Given the description of an element on the screen output the (x, y) to click on. 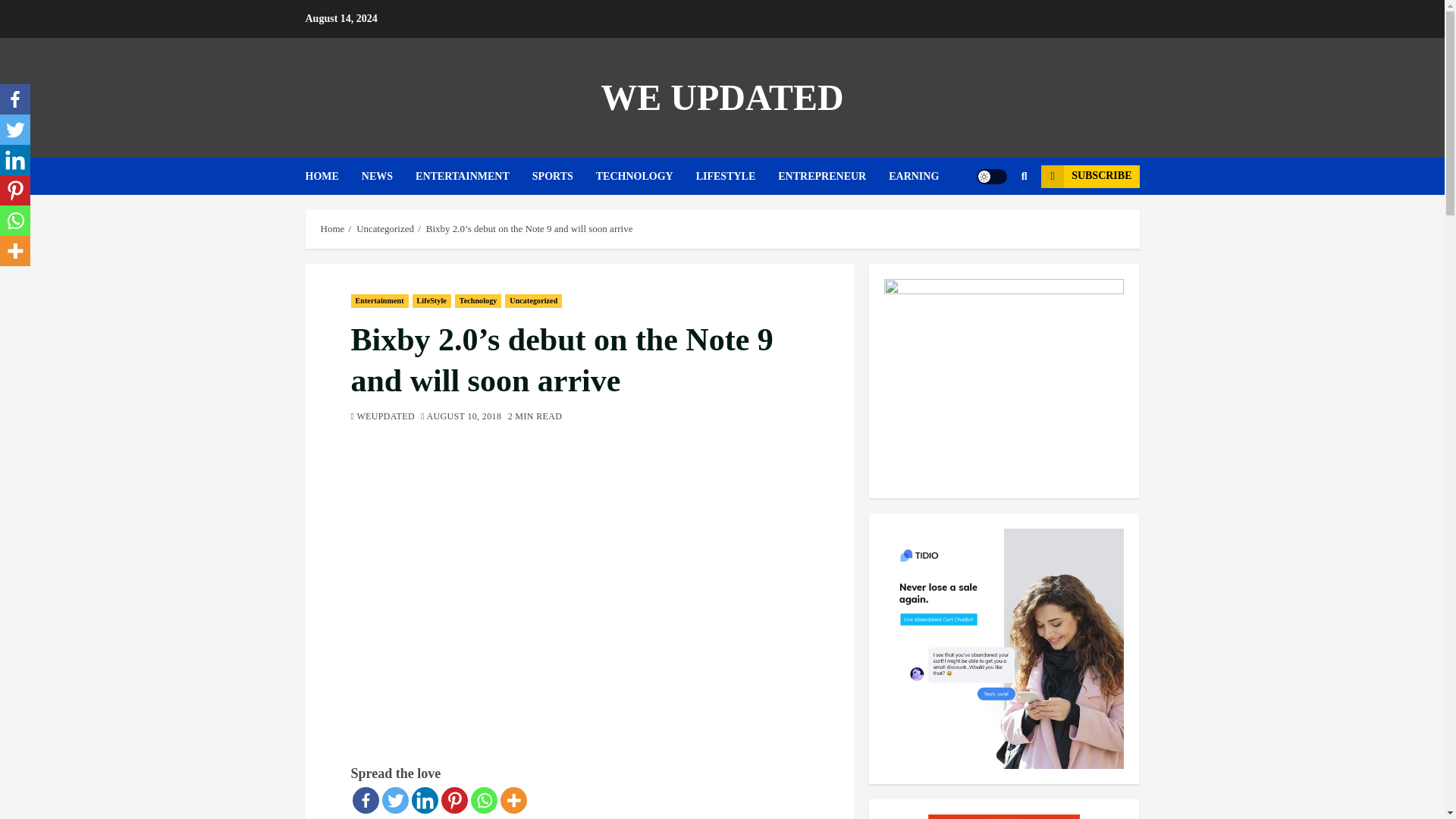
SUBSCRIBE (1089, 176)
HOME (332, 176)
More (513, 800)
NEWS (387, 176)
WEUPDATED (381, 417)
Entertainment (378, 300)
Technology (478, 300)
Whatsapp (483, 800)
Facebook (15, 99)
WE UPDATED (721, 96)
